Given the description of an element on the screen output the (x, y) to click on. 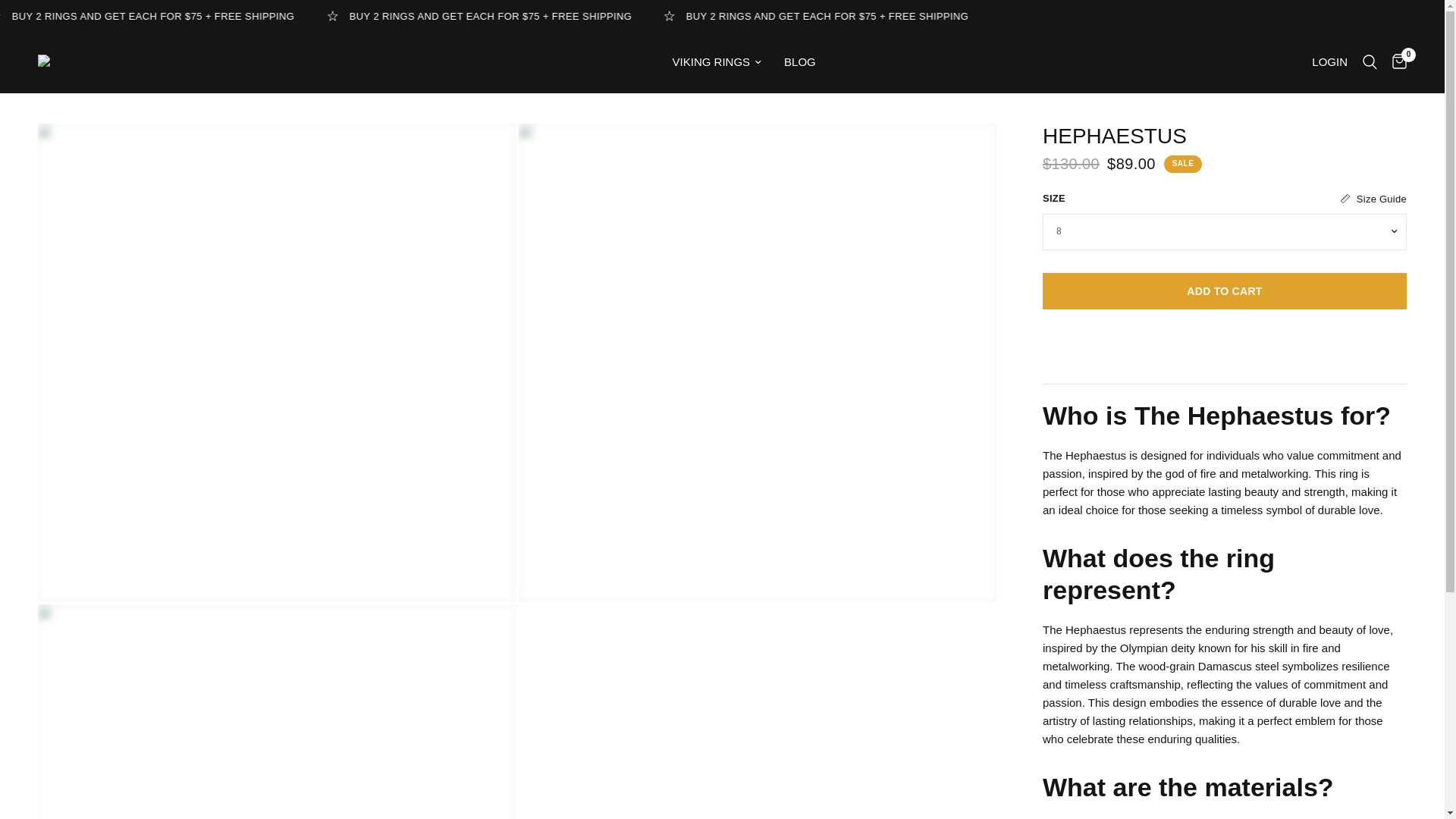
VIKING RINGS (716, 62)
BLOG (799, 62)
ADD TO CART (1224, 290)
Size Guide (1373, 198)
